Given the description of an element on the screen output the (x, y) to click on. 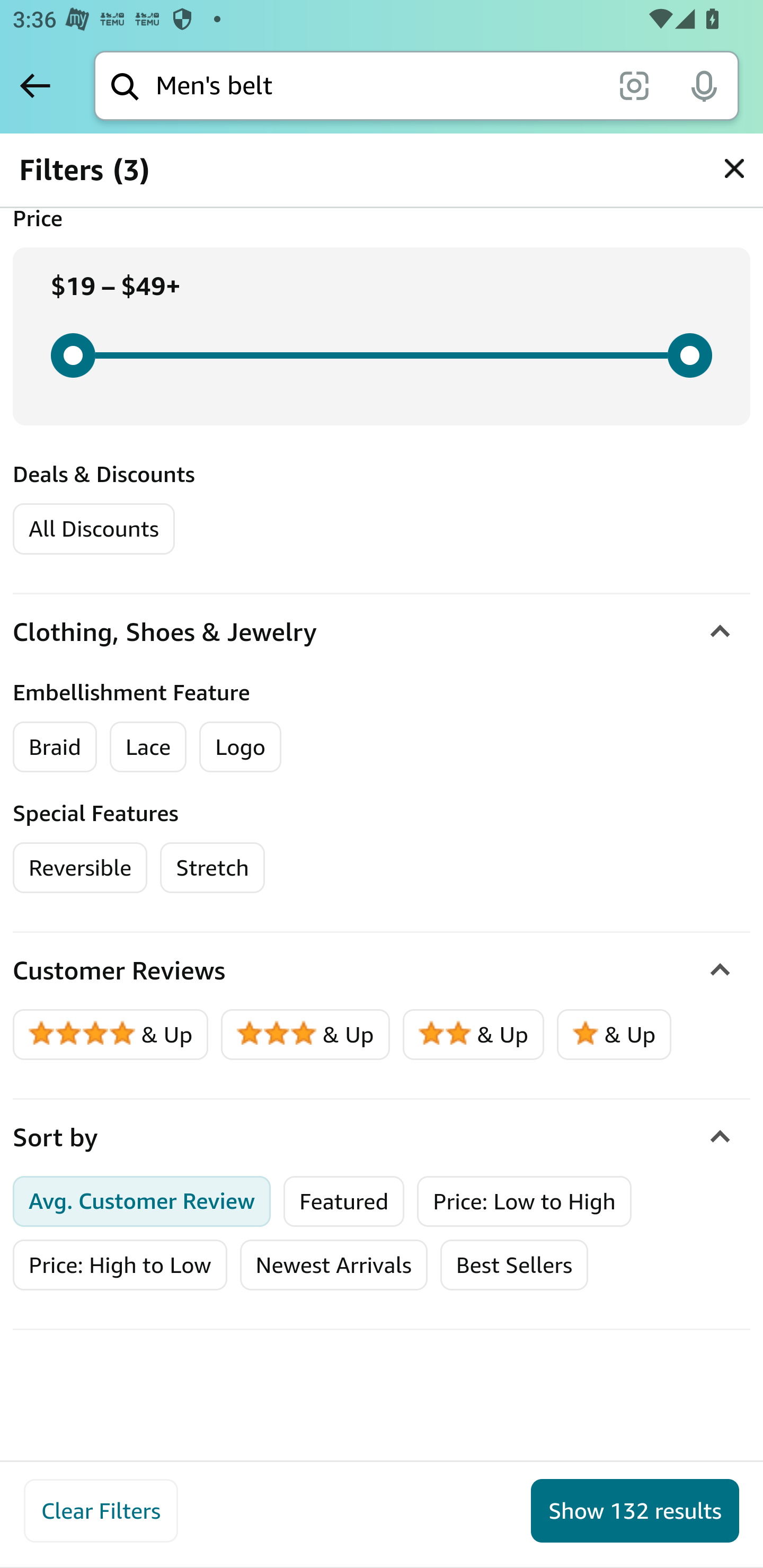
Back (35, 85)
scan it (633, 85)
Price & Deals (381, 165)
All Discounts (93, 528)
Clothing, Shoes & Jewelry (381, 631)
Braid (55, 746)
Lace (148, 746)
Logo (240, 746)
Reversible (80, 866)
Stretch (211, 866)
Customer Reviews (381, 970)
4 Stars & Up (110, 1033)
3 Stars & Up (305, 1033)
2 Stars & Up (473, 1033)
1 Star & Up (614, 1033)
Sort by (381, 1136)
Featured (344, 1200)
Price: Low to High (524, 1200)
Price: High to Low (119, 1266)
Newest Arrivals (332, 1266)
Best Sellers (513, 1266)
Clear Filters (100, 1510)
Show 132 results (635, 1510)
